Given the description of an element on the screen output the (x, y) to click on. 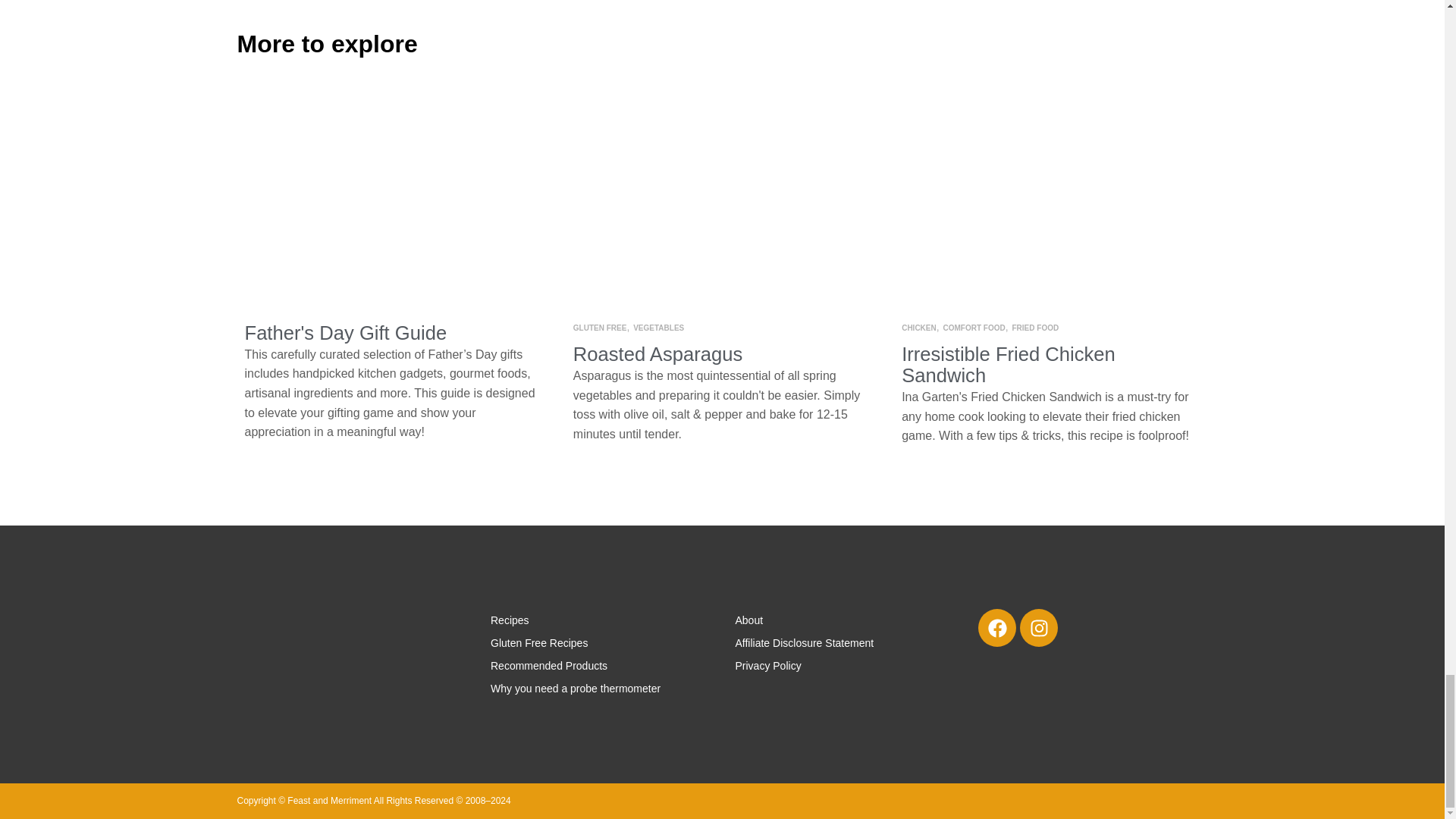
Aspargus-feature-bright-feature (721, 200)
Fried Chicken (1050, 200)
